Given the description of an element on the screen output the (x, y) to click on. 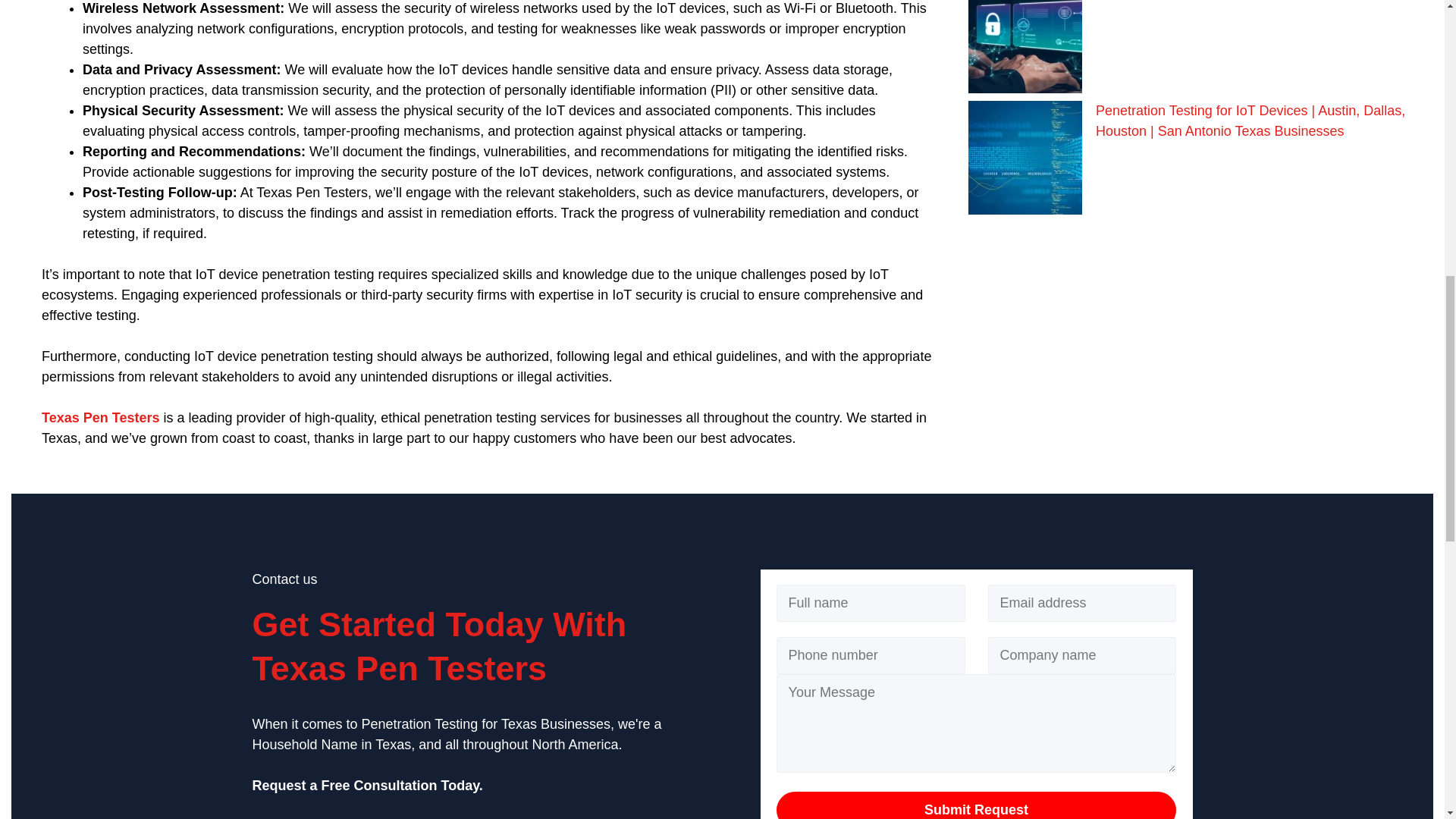
Submit Request (976, 805)
